Given the description of an element on the screen output the (x, y) to click on. 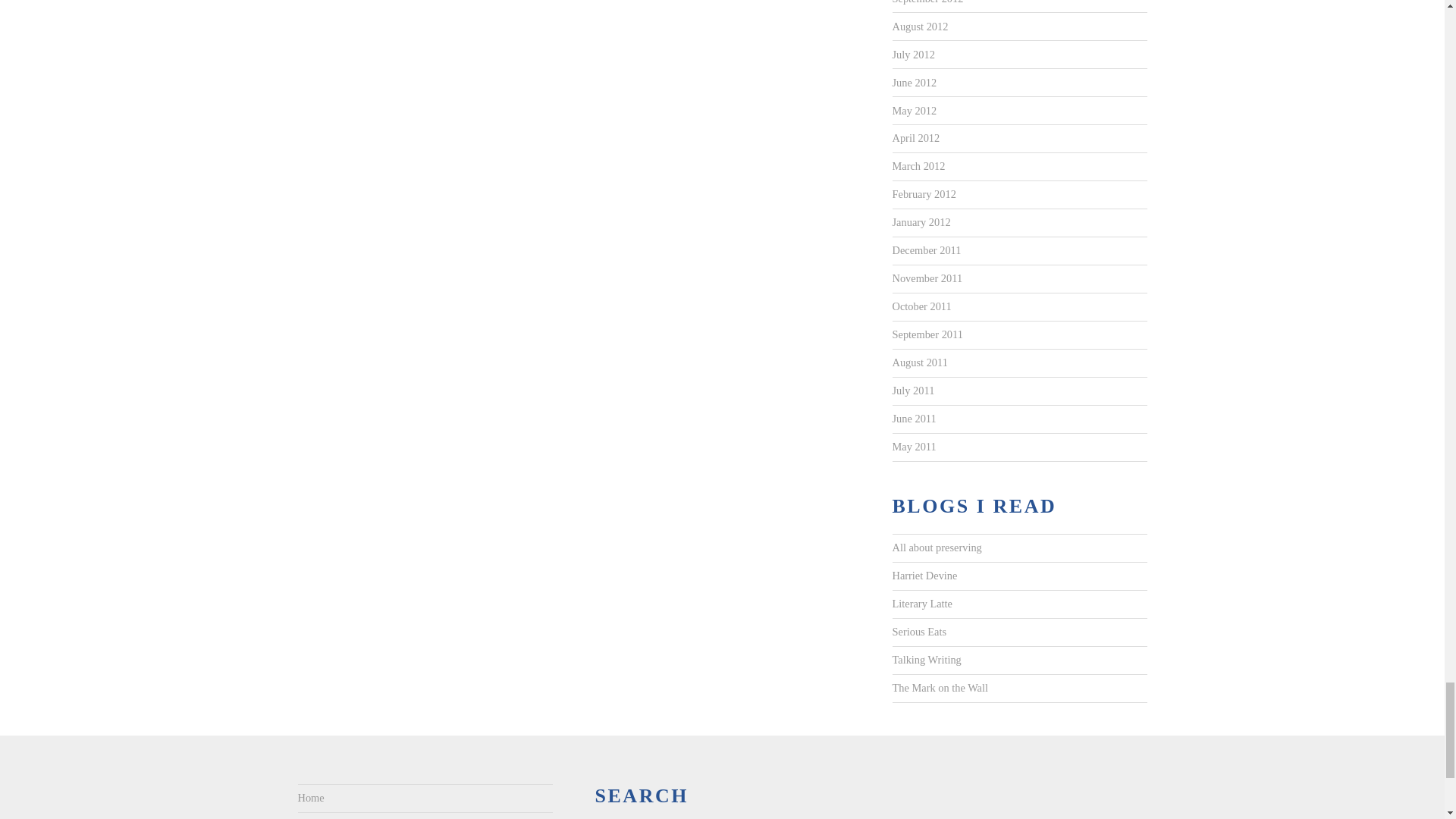
Orange County Literary Blog (939, 688)
Online literary magazine with work I like! (921, 603)
